Given the description of an element on the screen output the (x, y) to click on. 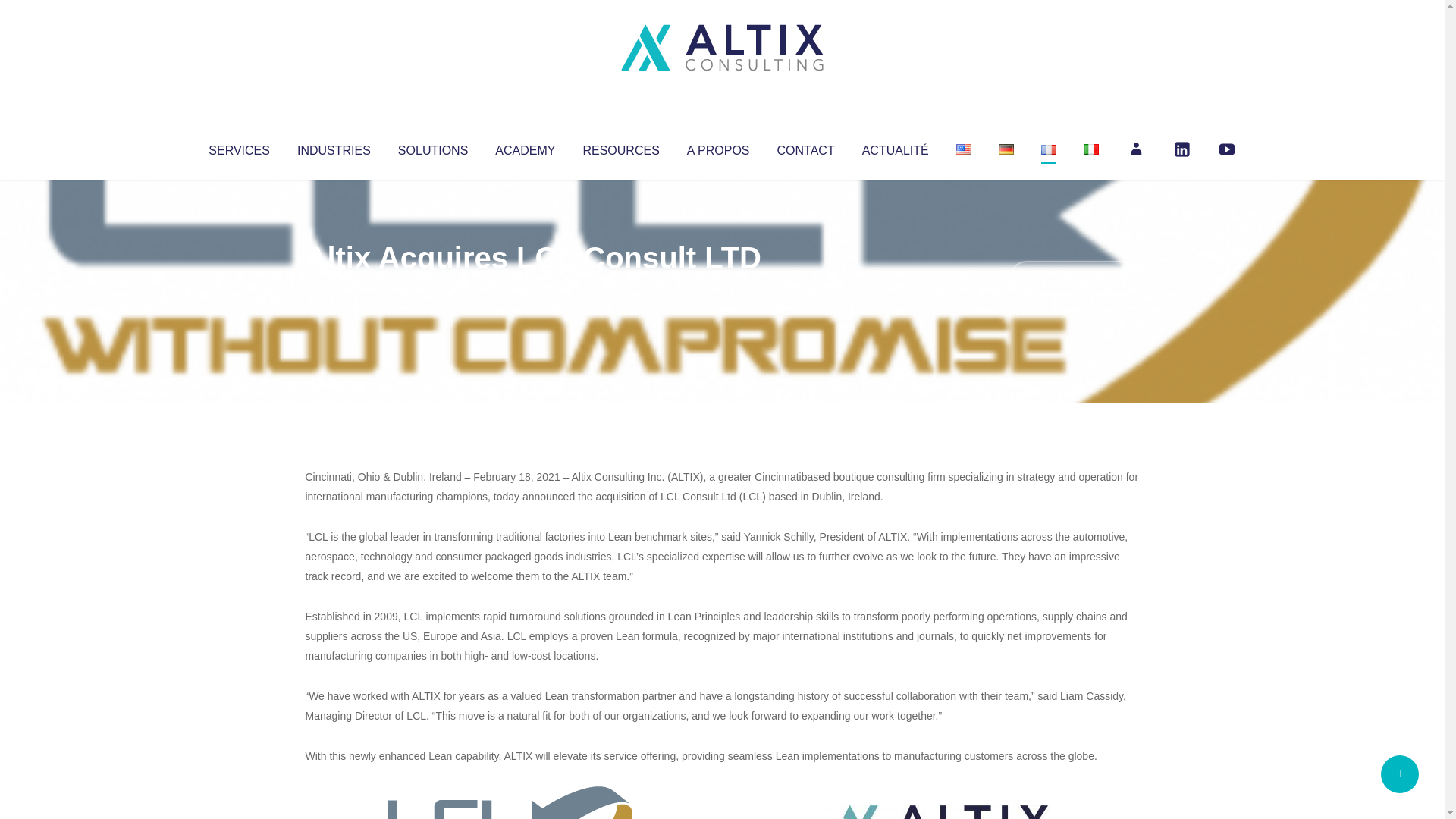
INDUSTRIES (334, 146)
RESOURCES (620, 146)
Altix (333, 287)
SOLUTIONS (432, 146)
No Comments (1073, 278)
Uncategorized (530, 287)
Articles par Altix (333, 287)
A PROPOS (718, 146)
ACADEMY (524, 146)
SERVICES (238, 146)
